Given the description of an element on the screen output the (x, y) to click on. 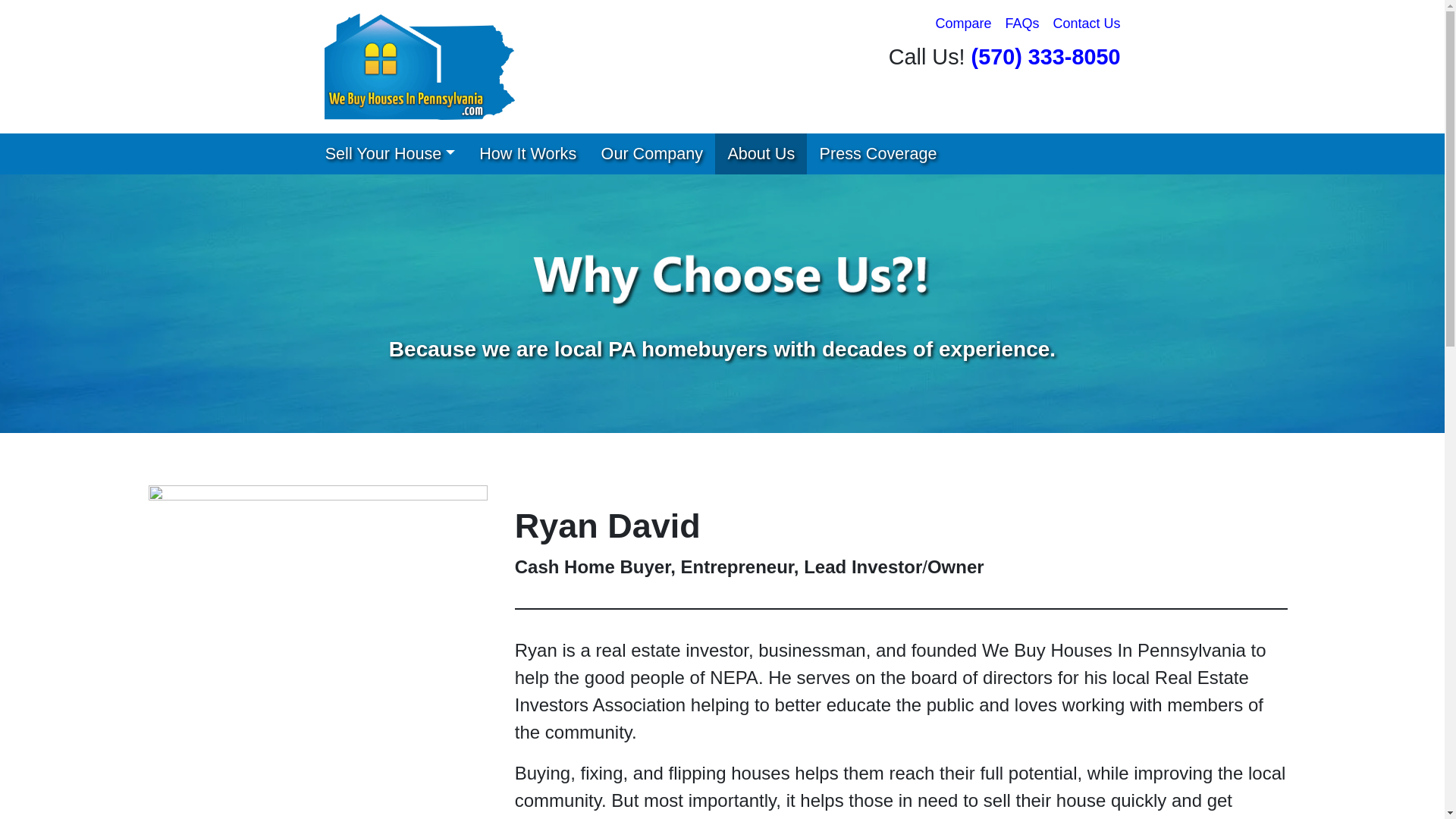
FAQs (1021, 23)
Our Company (651, 153)
About Us (760, 153)
Compare (962, 23)
About Us (760, 153)
Our Company (651, 153)
Press Coverage (877, 153)
Press Coverage (877, 153)
Sell Your House (390, 153)
Contact Us (1085, 23)
